Given the description of an element on the screen output the (x, y) to click on. 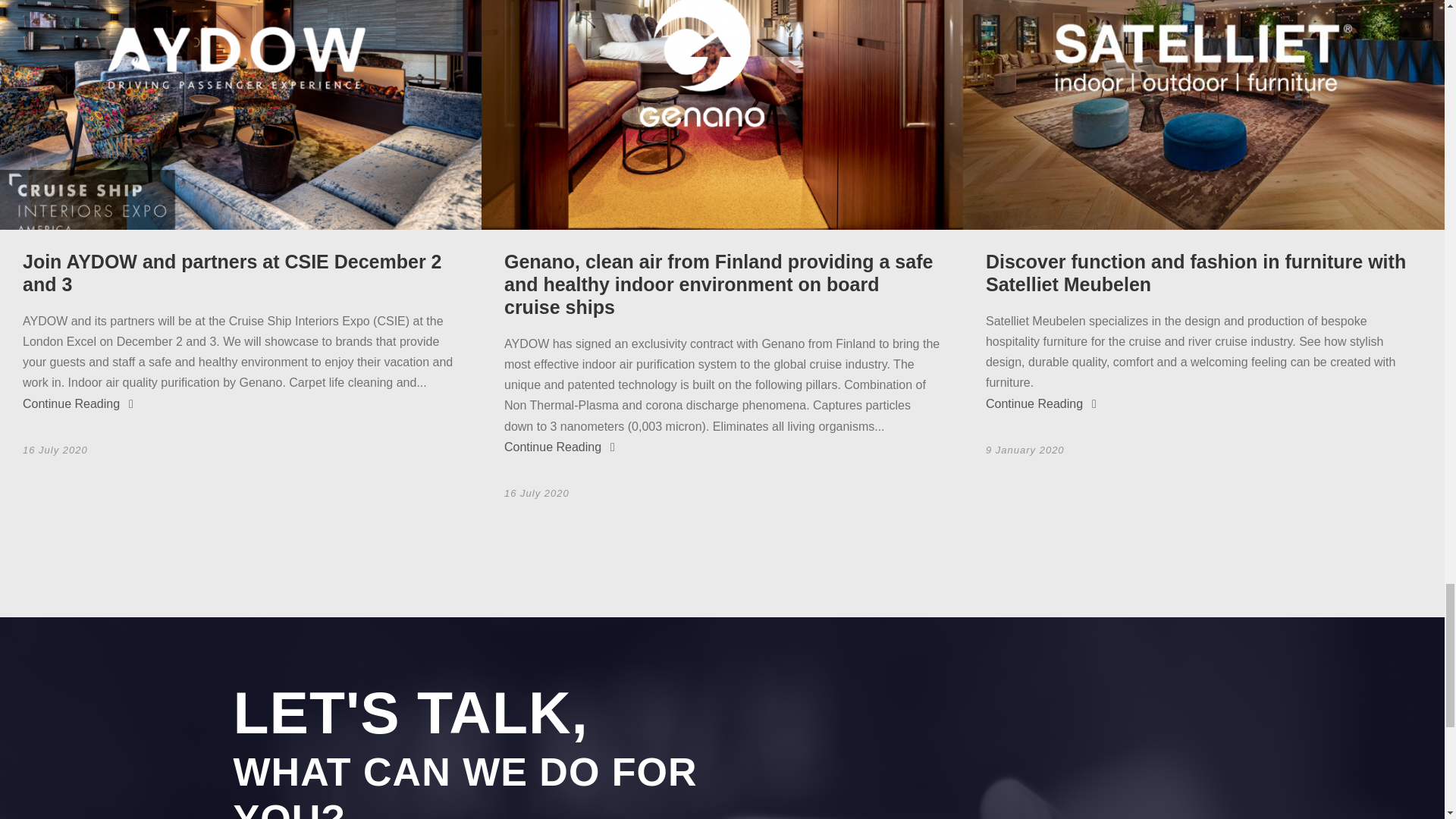
Continue Reading (78, 403)
16 July 2020 (536, 492)
16 July 2020 (55, 449)
Join AYDOW and partners at CSIE December 2 and 3 (232, 272)
Continue Reading (1040, 403)
Continue Reading (558, 446)
Aydow at CSIE 2020 MIAMI (240, 115)
GENANO (721, 115)
9 January 2020 (1024, 449)
